Given the description of an element on the screen output the (x, y) to click on. 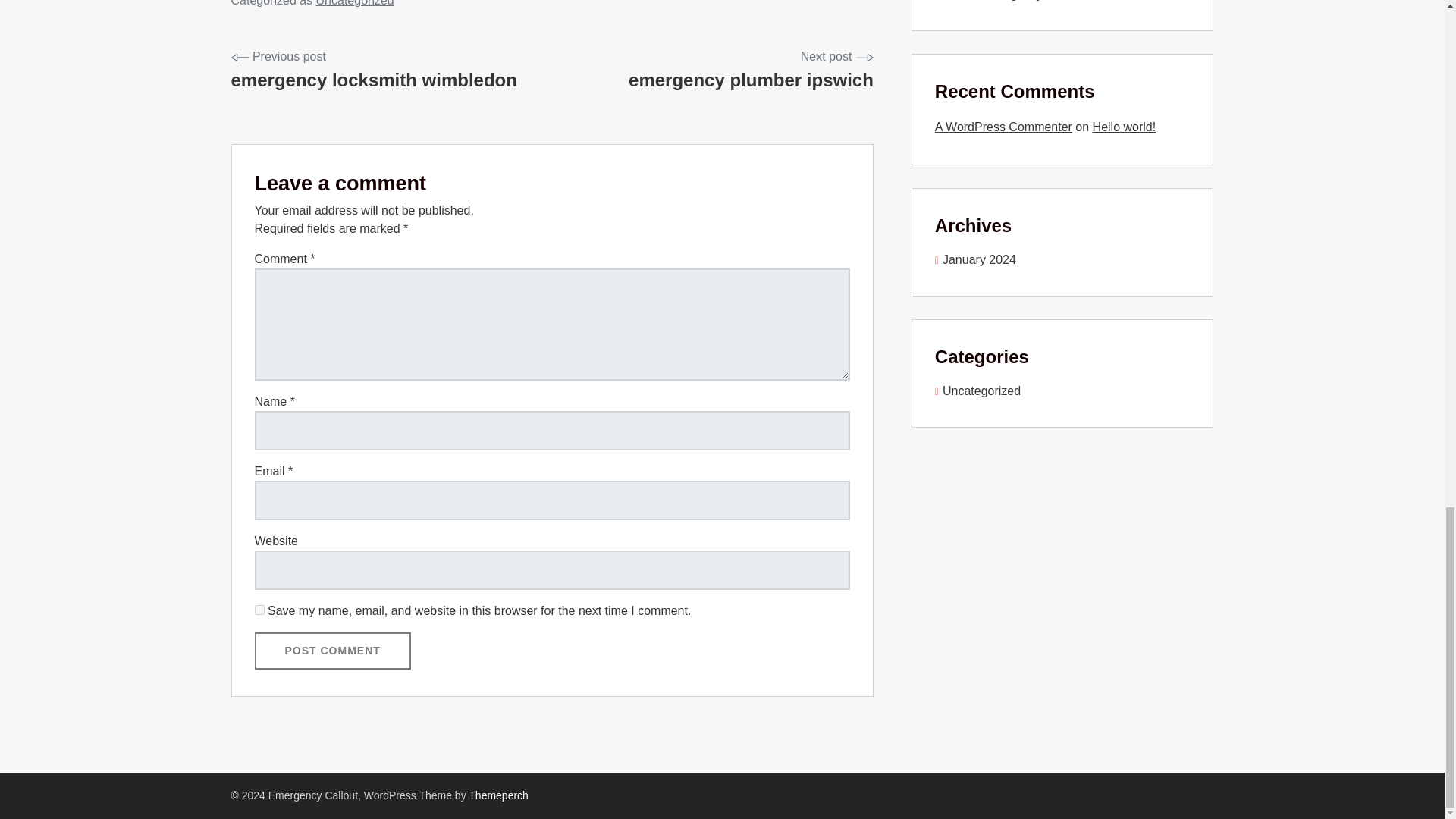
yes (259, 610)
Hello world! (373, 70)
Post Comment (1124, 126)
Themeperch (332, 650)
Post Comment (498, 795)
January 2024 (332, 650)
swindon emergency dentist (975, 259)
Uncategorized (750, 70)
Uncategorized (354, 3)
